Given the description of an element on the screen output the (x, y) to click on. 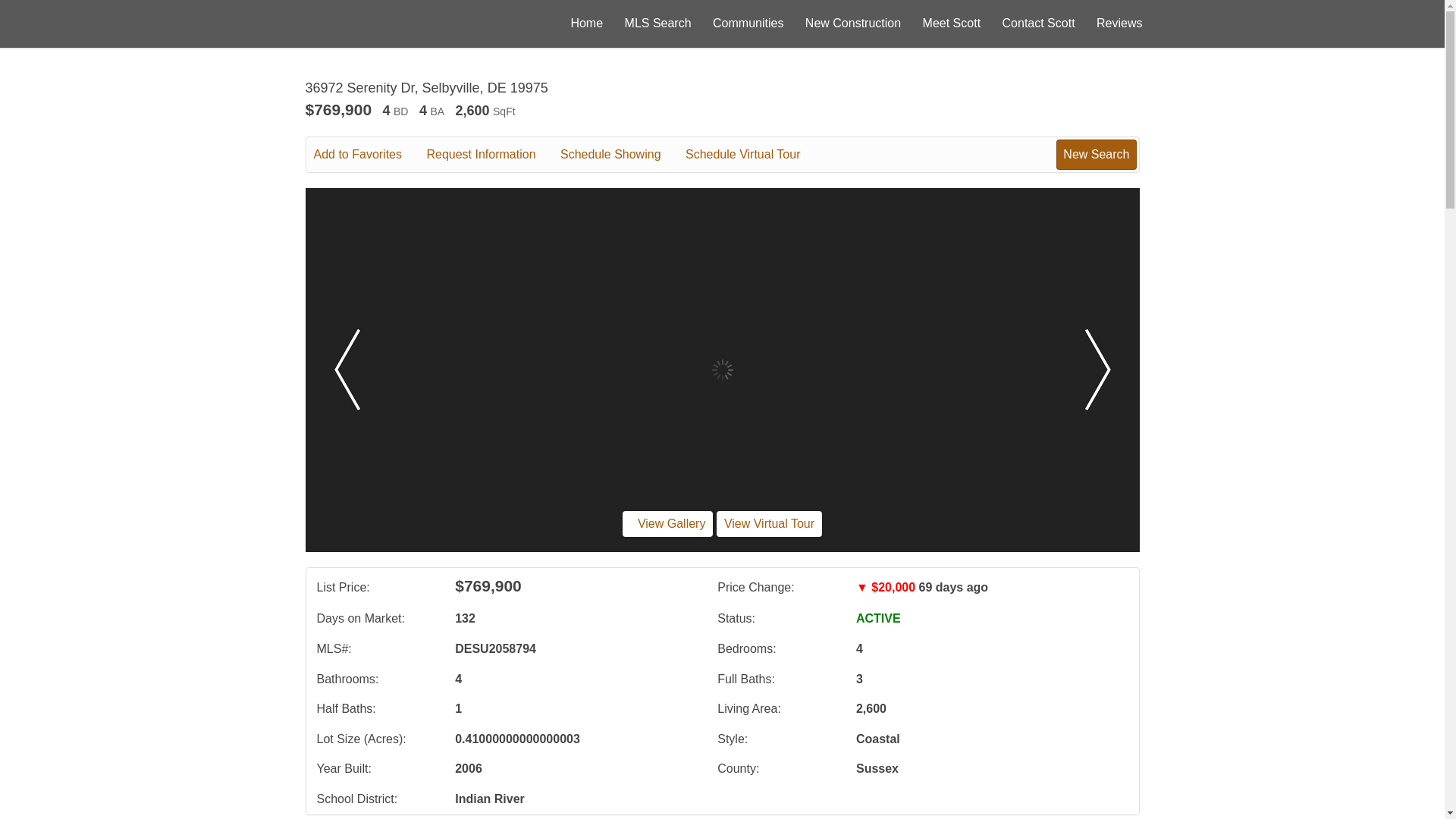
Home (586, 22)
MLS Search (657, 22)
Reviews (1118, 22)
Communities (748, 22)
View Virtual Tour (769, 522)
Schedule Virtual Tour (753, 154)
Add to Favorites (368, 154)
Meet Scott (951, 22)
New Search (1096, 154)
View Gallery (668, 524)
